Given the description of an element on the screen output the (x, y) to click on. 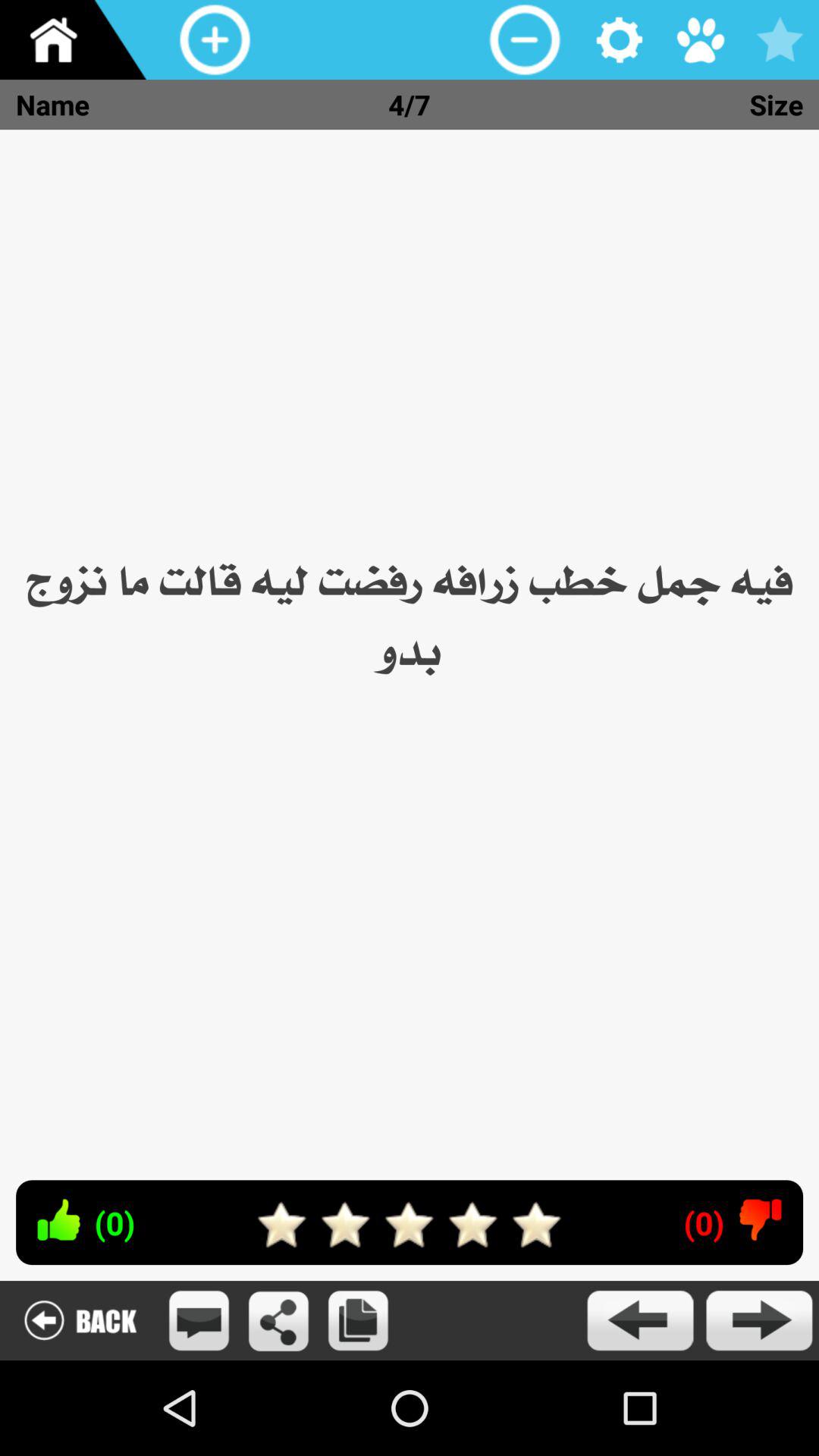
set favorite (779, 39)
